Given the description of an element on the screen output the (x, y) to click on. 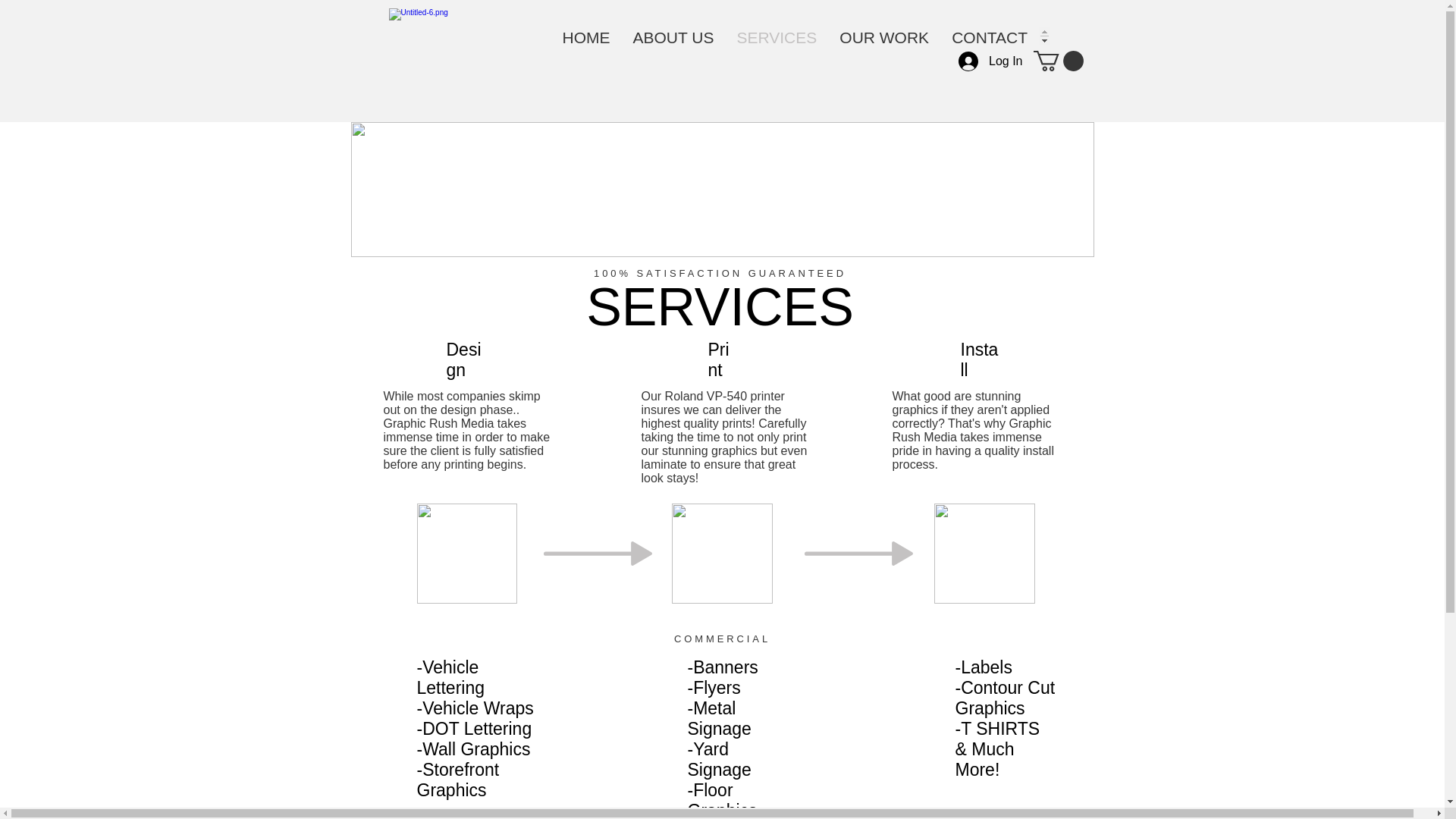
HOME (585, 35)
OUR WORK (884, 35)
SERVICES (776, 35)
ABOUT US (673, 35)
CONTACT (989, 35)
SHOP (1072, 35)
Log In (989, 61)
